Given the description of an element on the screen output the (x, y) to click on. 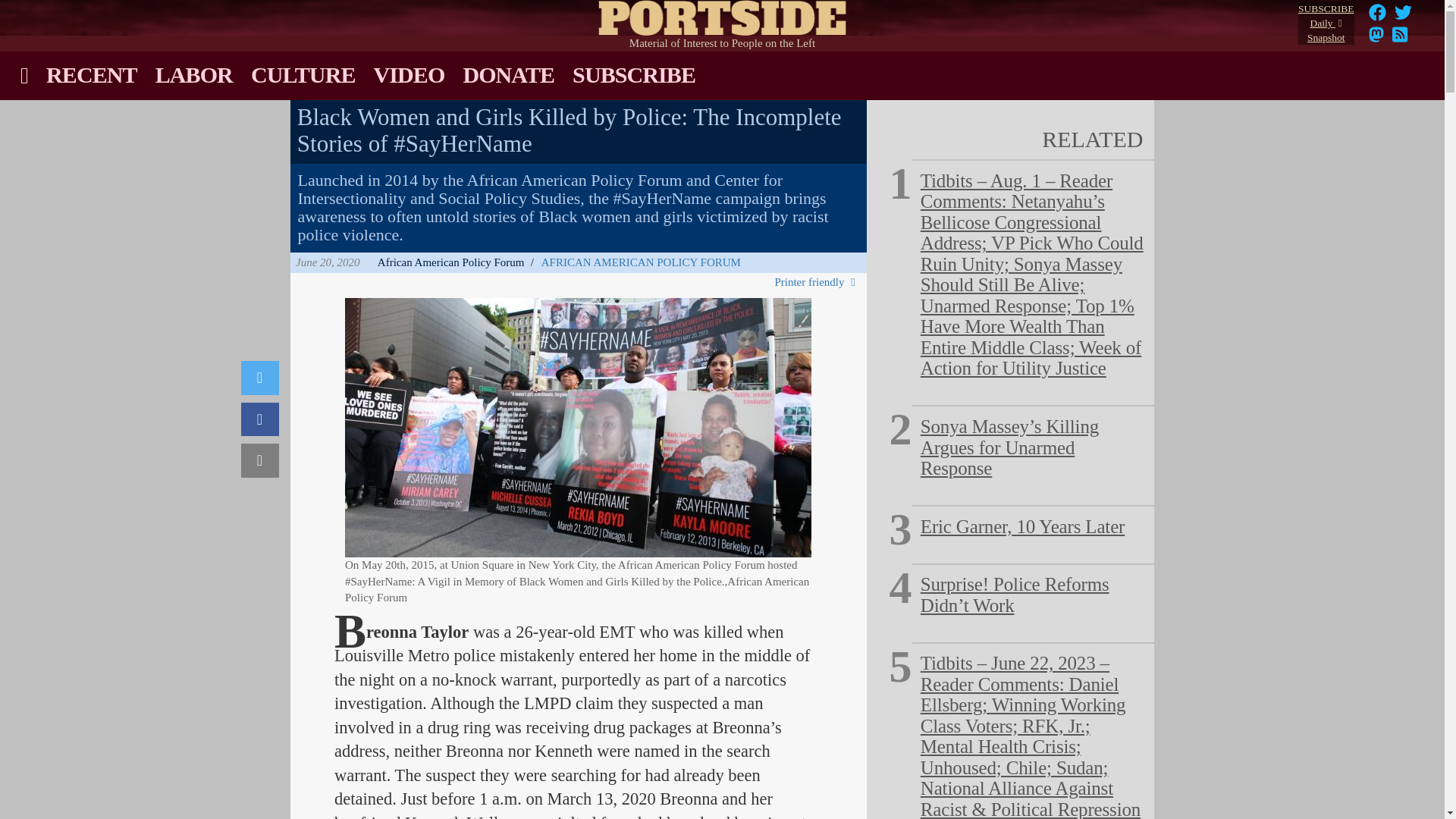
Facebook (1326, 23)
Follow Portside on Mastodon (260, 419)
Follow Portside's RSS feed (1376, 39)
AFRICAN AMERICAN POLICY FORUM (1399, 39)
RSS (641, 262)
LABOR (1399, 39)
Printer friendly   (194, 74)
Twitter (817, 282)
Twitter (260, 377)
